Given the description of an element on the screen output the (x, y) to click on. 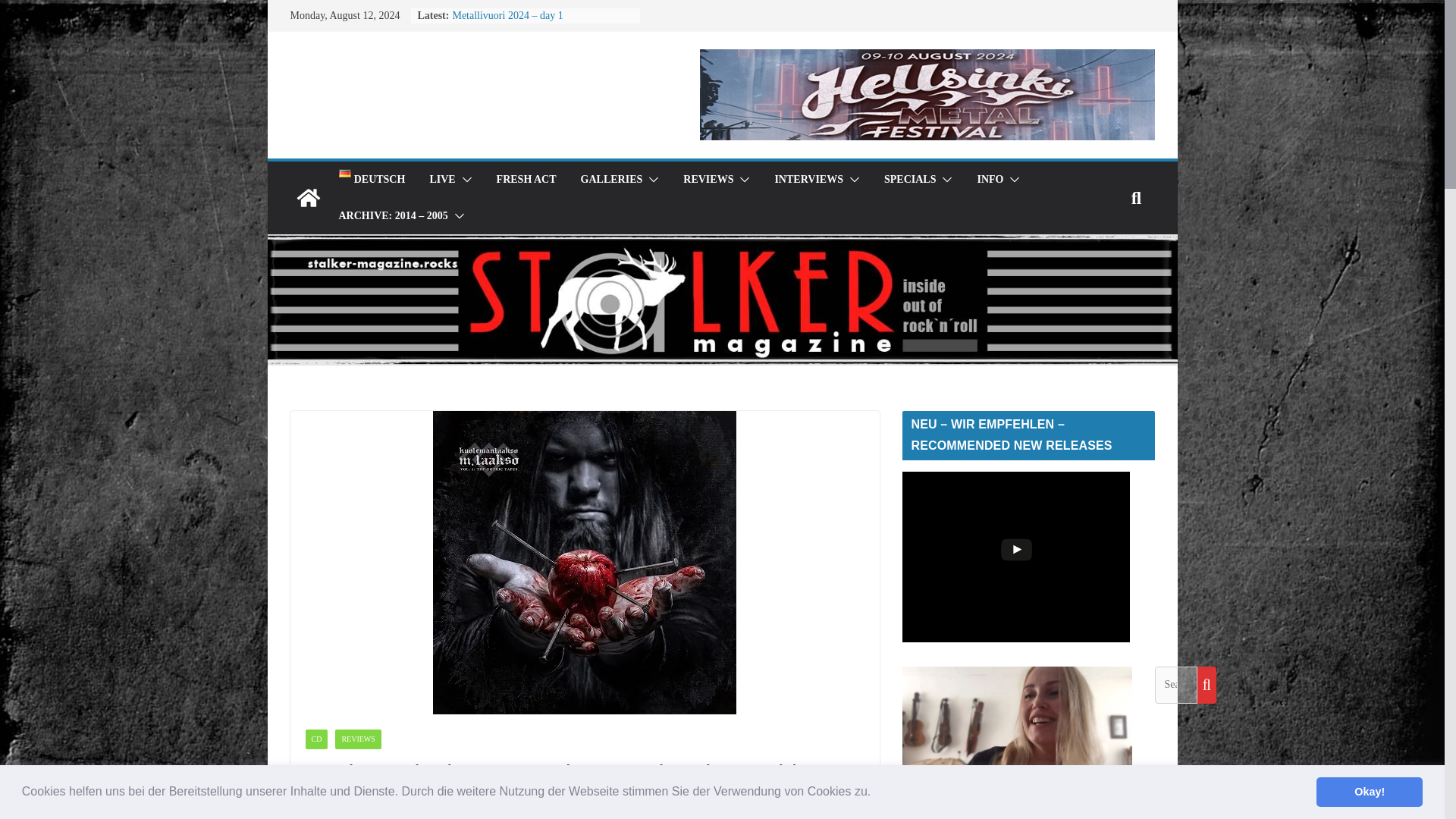
REVIEWS (707, 179)
Okay! (1369, 791)
GALLERIES (611, 179)
DEUTSCH (370, 179)
LIVE (441, 179)
INTERVIEWS (808, 179)
FRESH ACT (526, 179)
Stalker Magazine (307, 197)
SPECIALS (909, 179)
Stalker Magazine (721, 244)
